Given the description of an element on the screen output the (x, y) to click on. 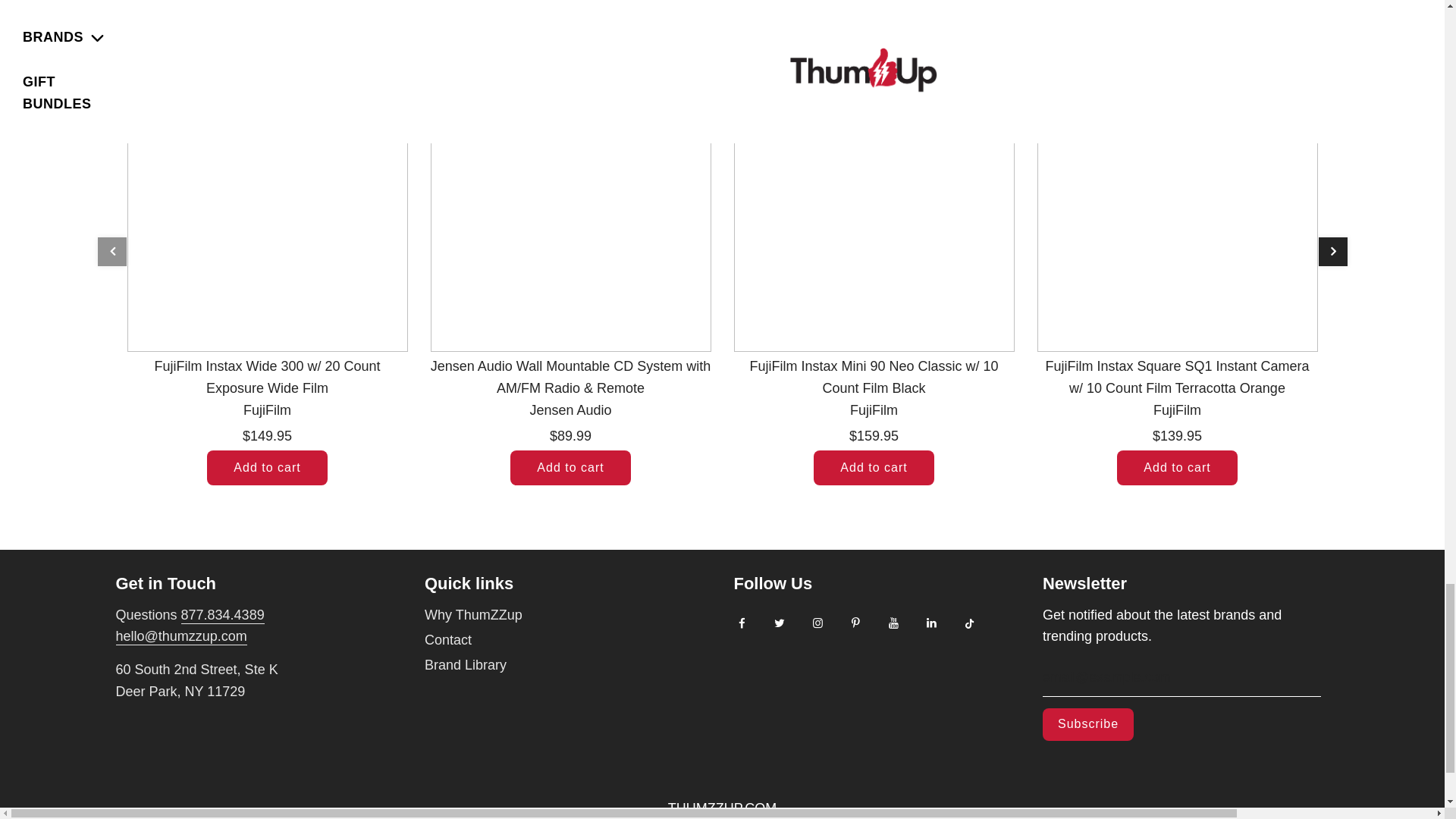
null (180, 636)
Subscribe (1088, 724)
Call Us: 877.834.4389 (222, 615)
